Given the description of an element on the screen output the (x, y) to click on. 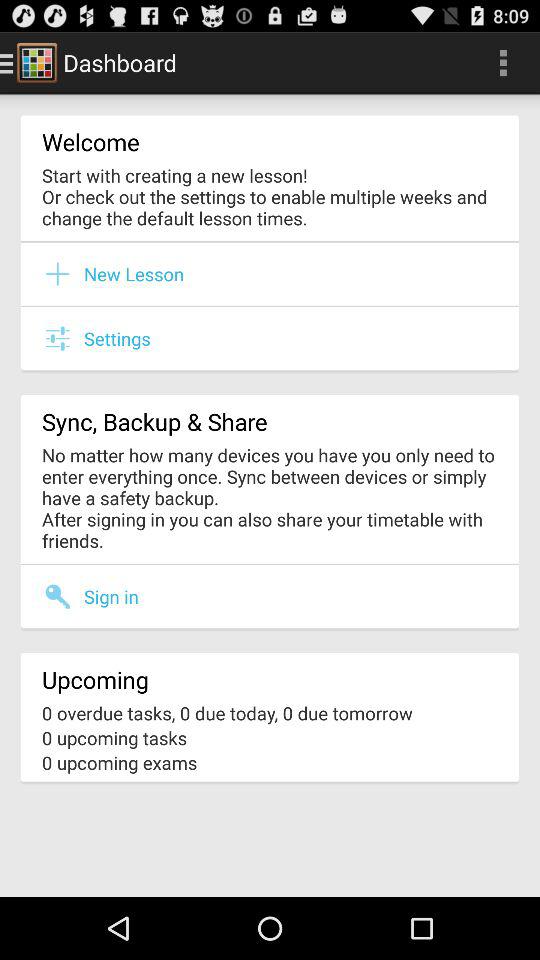
turn off app next to dashboard item (503, 62)
